Given the description of an element on the screen output the (x, y) to click on. 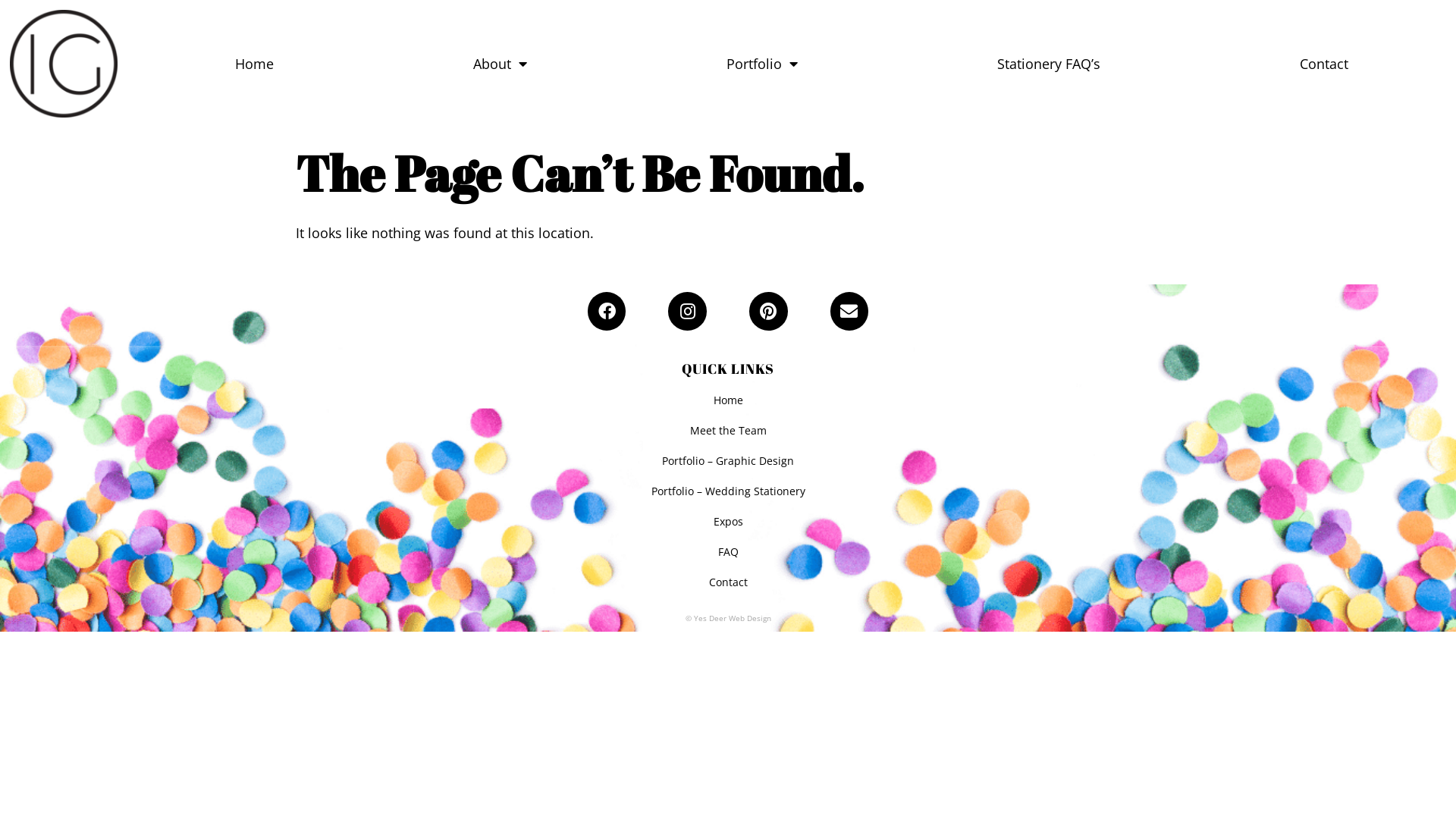
FAQ Element type: text (727, 551)
Expos Element type: text (727, 521)
Portfolio Element type: text (762, 63)
Home Element type: text (727, 400)
About Element type: text (499, 63)
Meet the Team Element type: text (727, 430)
Contact Element type: text (1324, 63)
Home Element type: text (253, 63)
Contact Element type: text (727, 582)
